Given the description of an element on the screen output the (x, y) to click on. 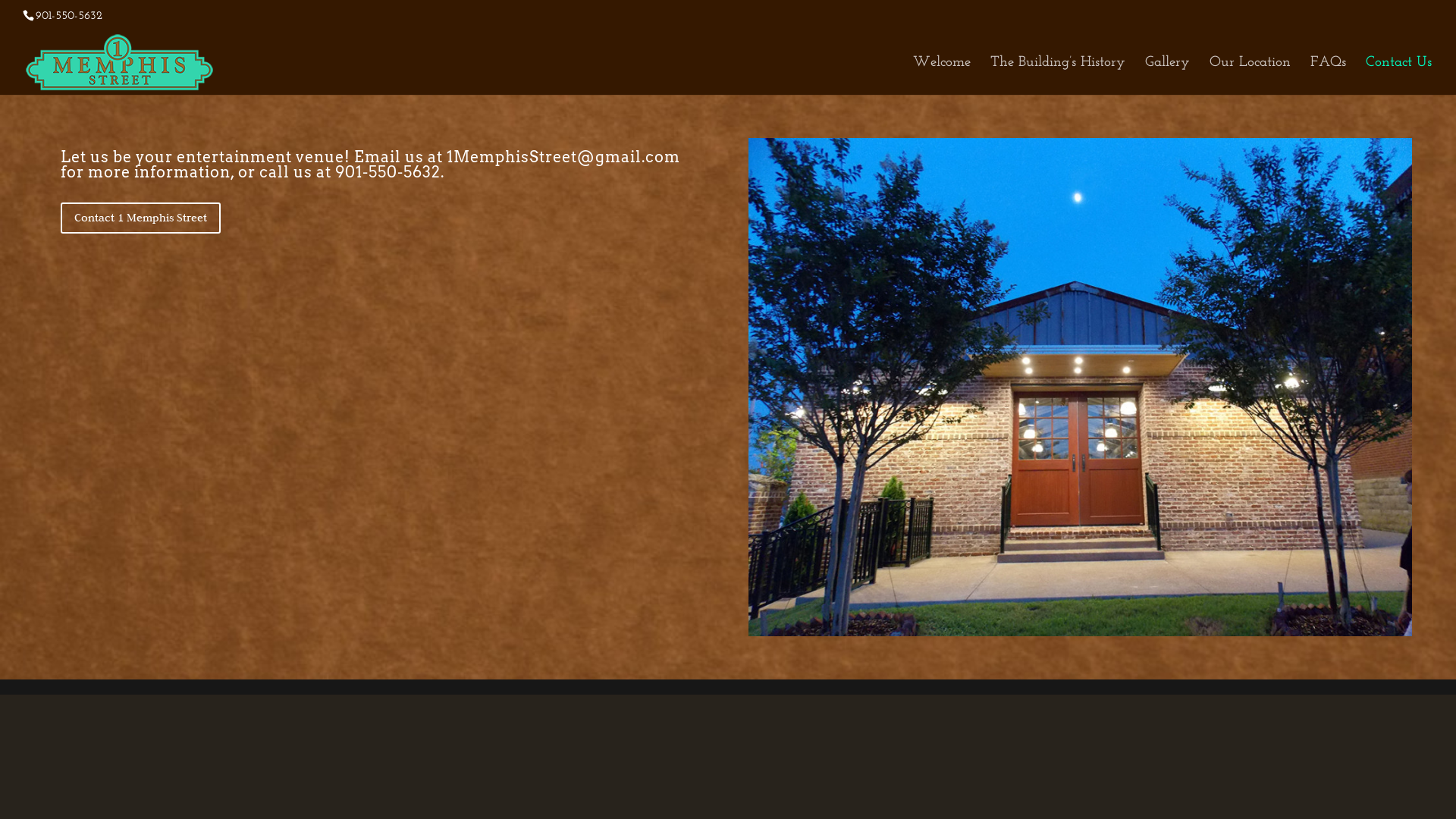
Gallery Element type: text (1167, 75)
Contact Us Element type: text (1398, 75)
FAQs Element type: text (1328, 75)
Our Location Element type: text (1249, 75)
Welcome Element type: text (941, 75)
Contact 1 Memphis Street Element type: text (140, 217)
